Given the description of an element on the screen output the (x, y) to click on. 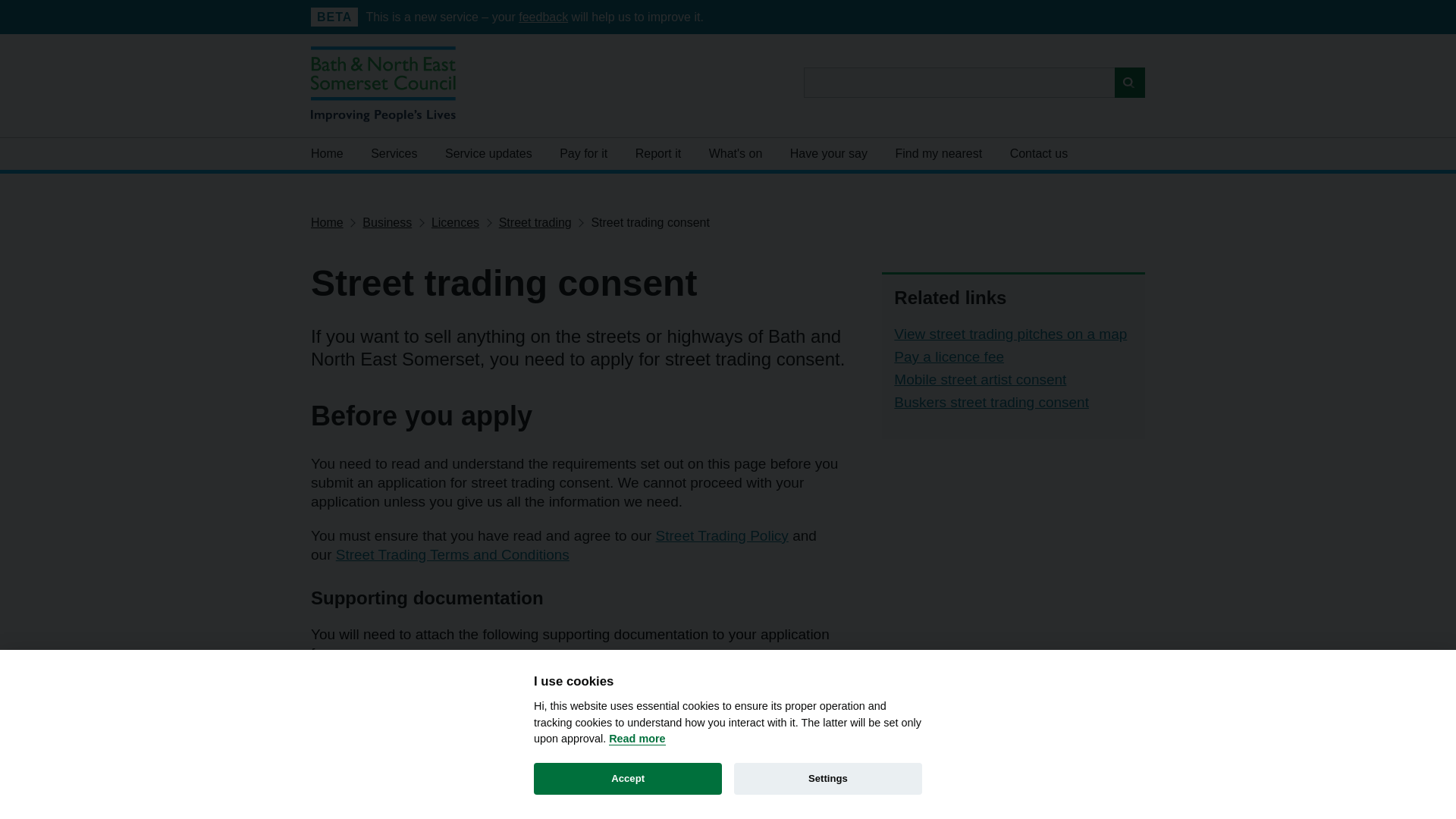
Business (387, 222)
Report it (658, 153)
What's on (735, 153)
Enter the terms you wish to search for. (973, 82)
Home (333, 153)
feedback (542, 16)
Street Trading Terms and Conditions (452, 554)
Licences (454, 222)
Services (393, 153)
Street Trading Policy (722, 535)
Pay for it (583, 153)
Service updates (488, 153)
Search (1129, 82)
Have your say (828, 153)
Contact us (1038, 153)
